Given the description of an element on the screen output the (x, y) to click on. 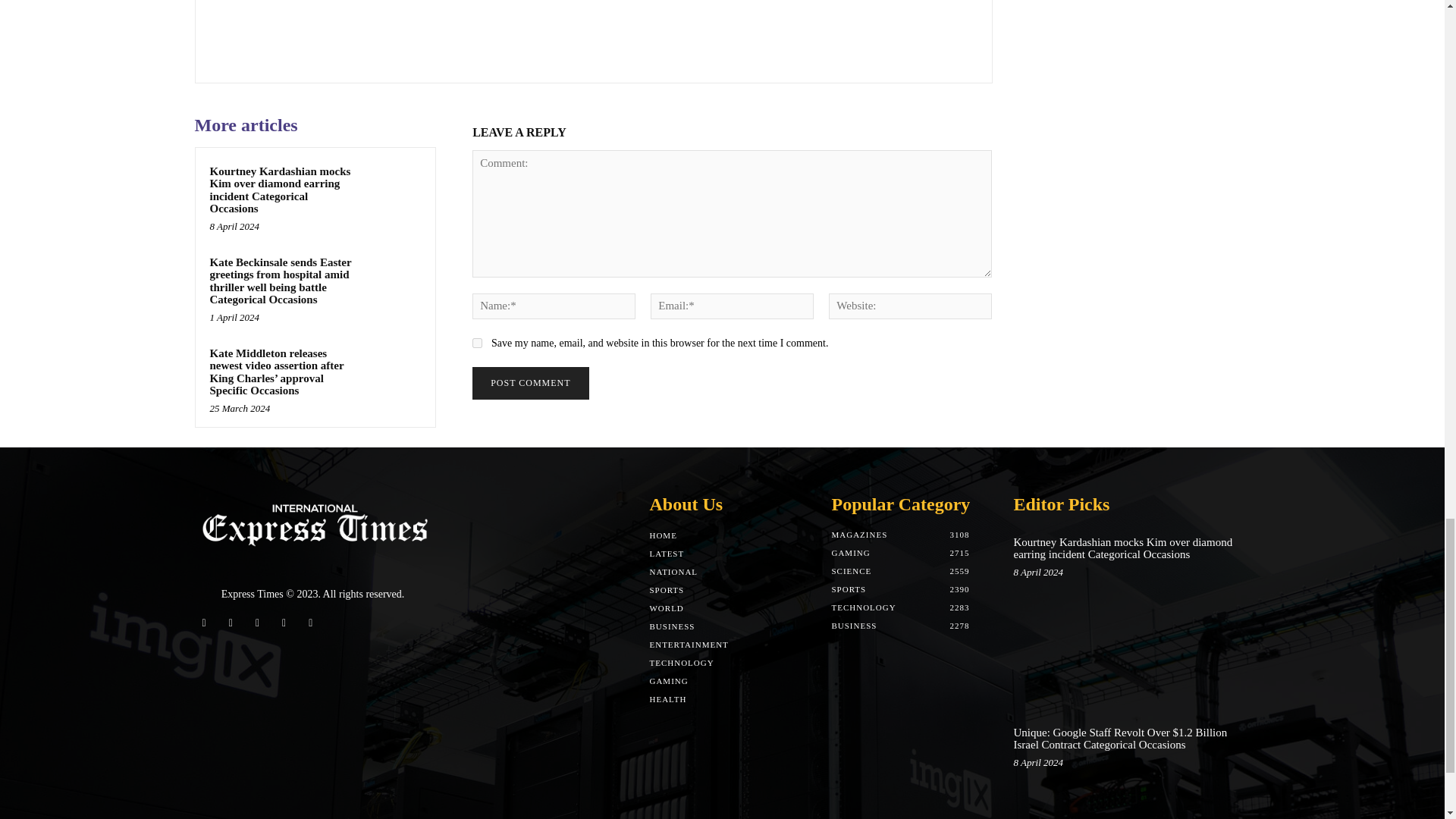
Post Comment (529, 382)
yes (476, 343)
